Given the description of an element on the screen output the (x, y) to click on. 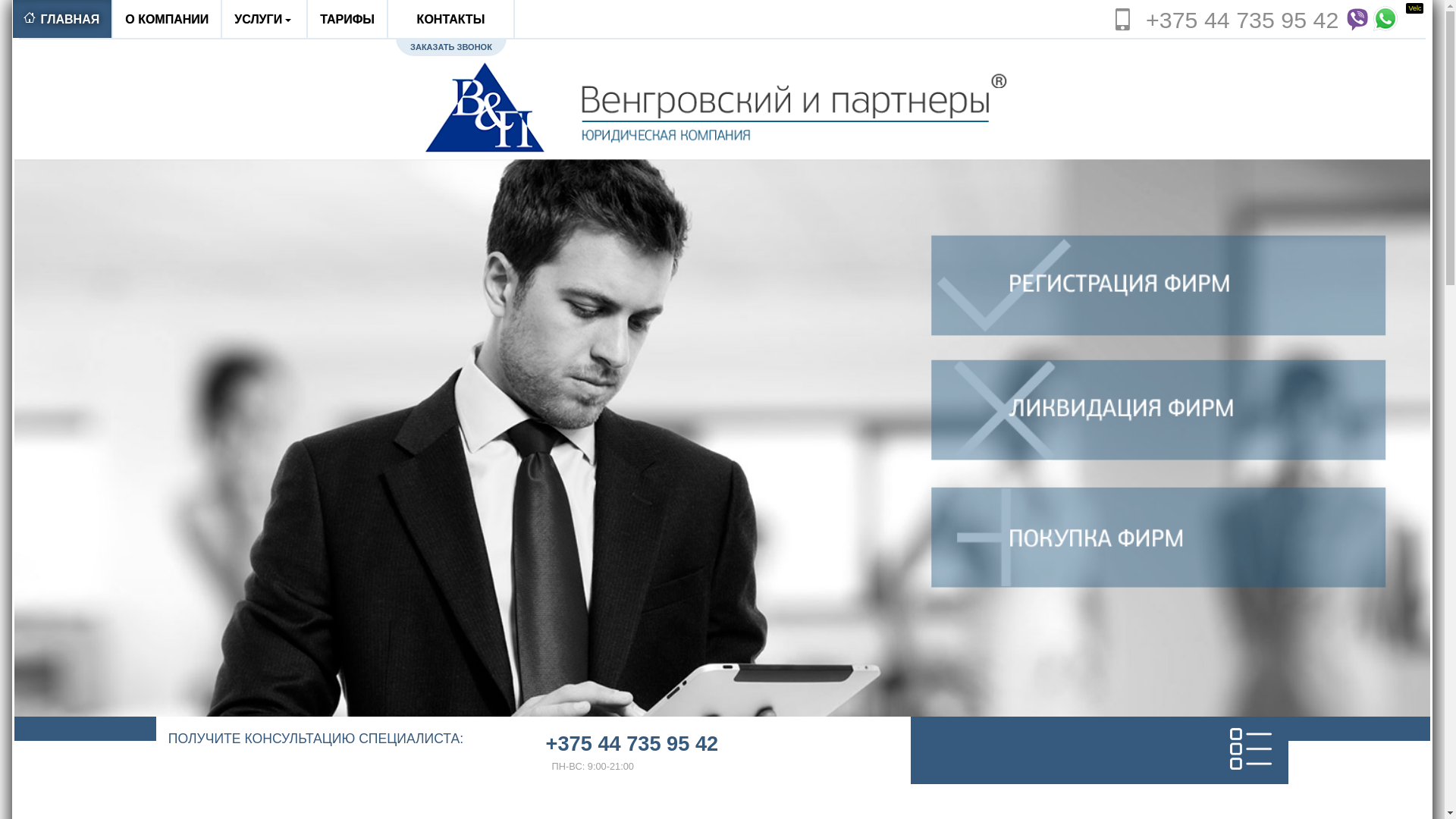
Whatsapp Element type: hover (1386, 18)
Viber Element type: hover (1357, 18)
